Given the description of an element on the screen output the (x, y) to click on. 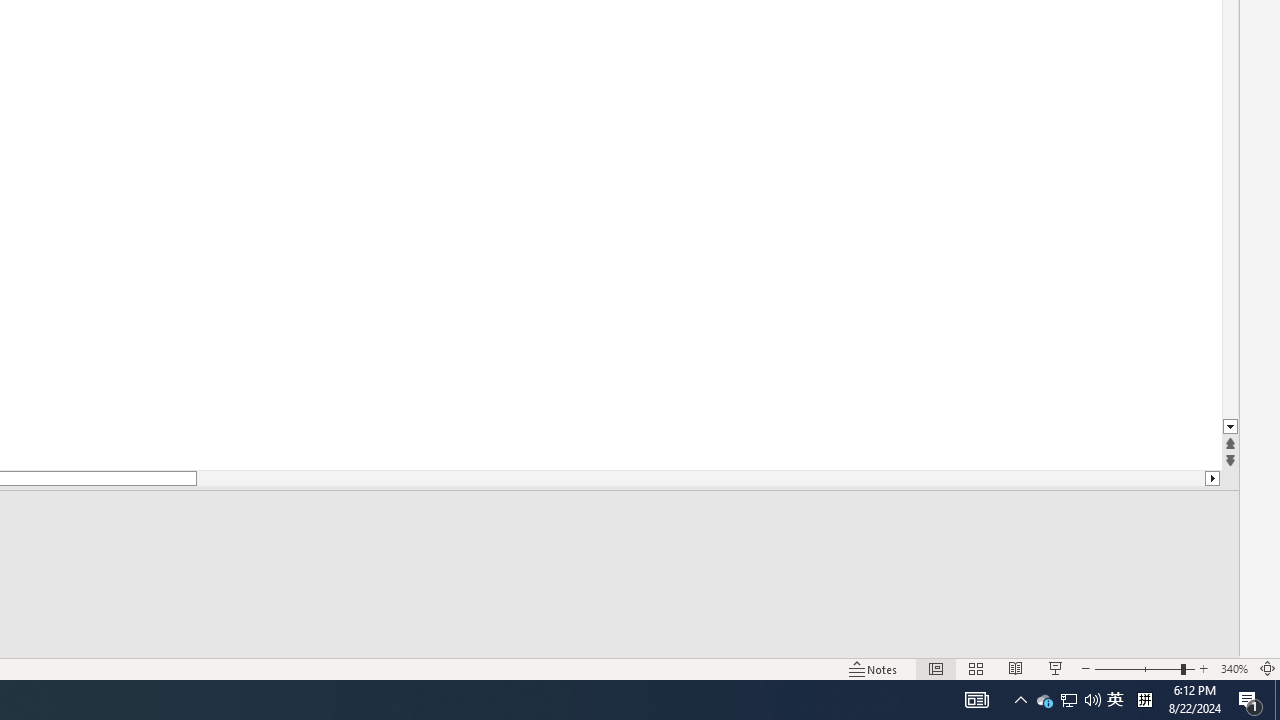
Zoom 340% (1234, 668)
